Given the description of an element on the screen output the (x, y) to click on. 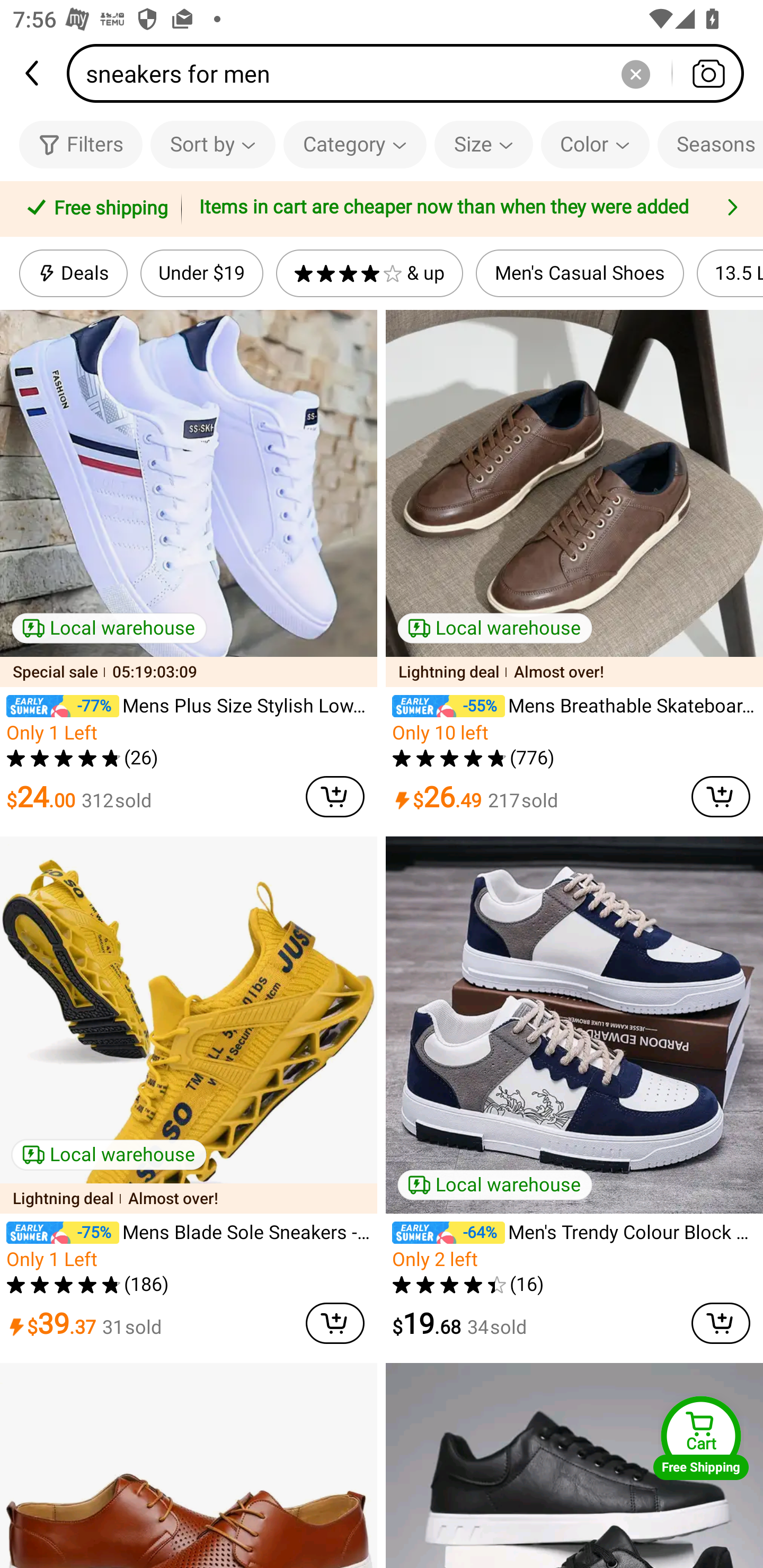
back (33, 72)
sneakers for men (411, 73)
Delete search history (635, 73)
Search by photo (708, 73)
Filters (80, 143)
Sort by (212, 143)
Category (354, 143)
Size (483, 143)
Color (594, 143)
Seasons (710, 143)
 Free shipping (93, 208)
Deals (73, 273)
Under $19 (201, 273)
& up (369, 273)
Men's Casual Shoes (580, 273)
Cart Free Shipping Cart (701, 1437)
